Given the description of an element on the screen output the (x, y) to click on. 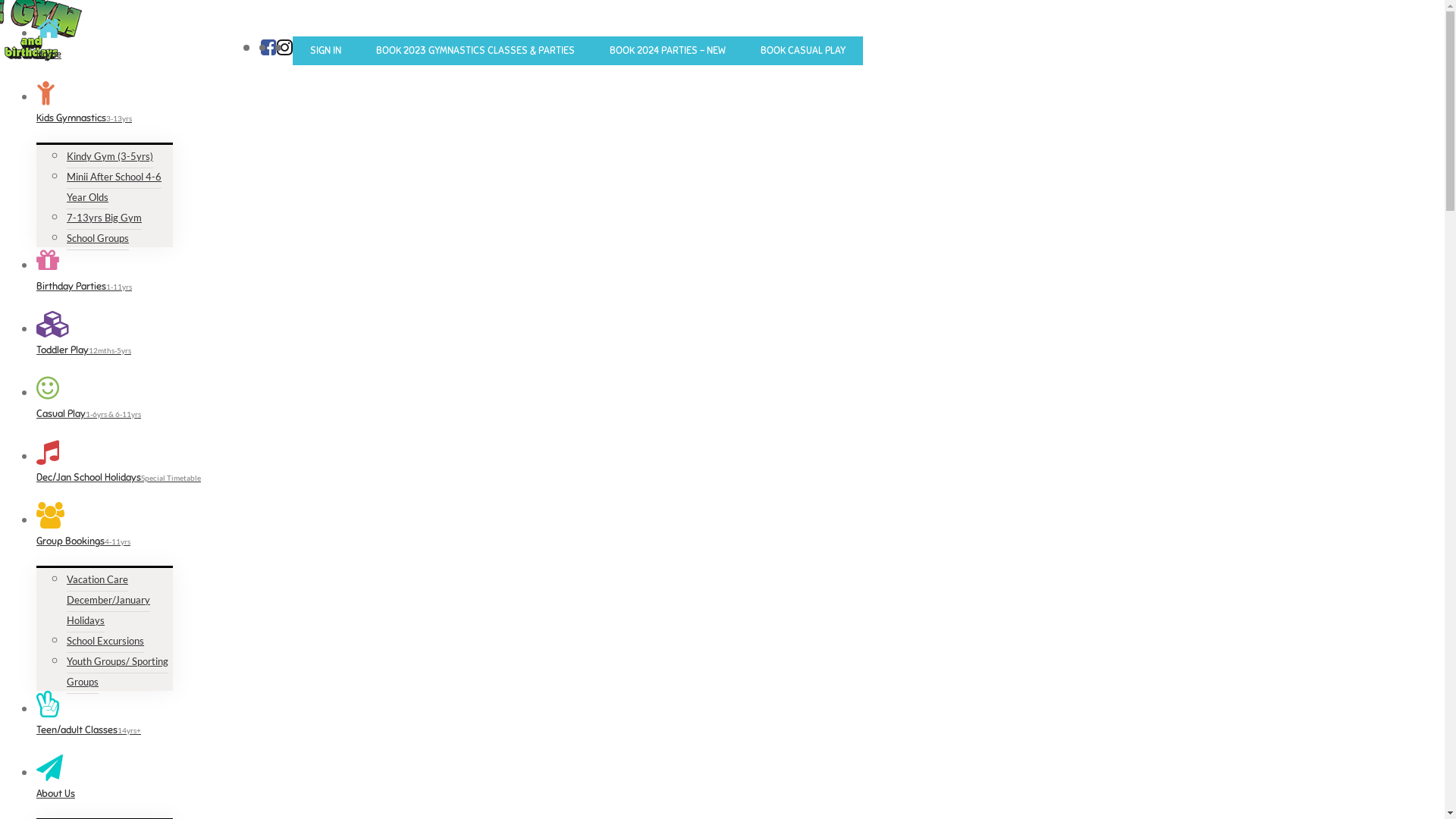
Group Bookings4-11yrs Element type: text (428, 533)
Dec/Jan School HolidaysSpecial Timetable Element type: text (428, 470)
Birthday Parties1-11yrs Element type: text (428, 278)
About Us Element type: text (428, 786)
Home Element type: text (428, 46)
BOOK 2023 GYMNASTICS CLASSES & PARTIES Element type: text (475, 46)
School Excursions Element type: text (105, 640)
Kindy Gym (3-5yrs) Element type: text (109, 156)
Kids Gymnastics3-13yrs Element type: text (428, 110)
Youth Groups/ Sporting Groups Element type: text (117, 671)
Teen/adult Classes14yrs+ Element type: text (428, 722)
BOOK CASUAL PLAY Element type: text (802, 46)
Minii After School 4-6 Year Olds Element type: text (113, 187)
SIGN IN Element type: text (325, 46)
Vacation Care December/January Holidays Element type: text (108, 599)
School Groups Element type: text (97, 238)
Casual Play1-6yrs & 6-11yrs Element type: text (428, 406)
Toddler Play12mths-5yrs Element type: text (428, 342)
7-13yrs Big Gym Element type: text (103, 217)
